Given the description of an element on the screen output the (x, y) to click on. 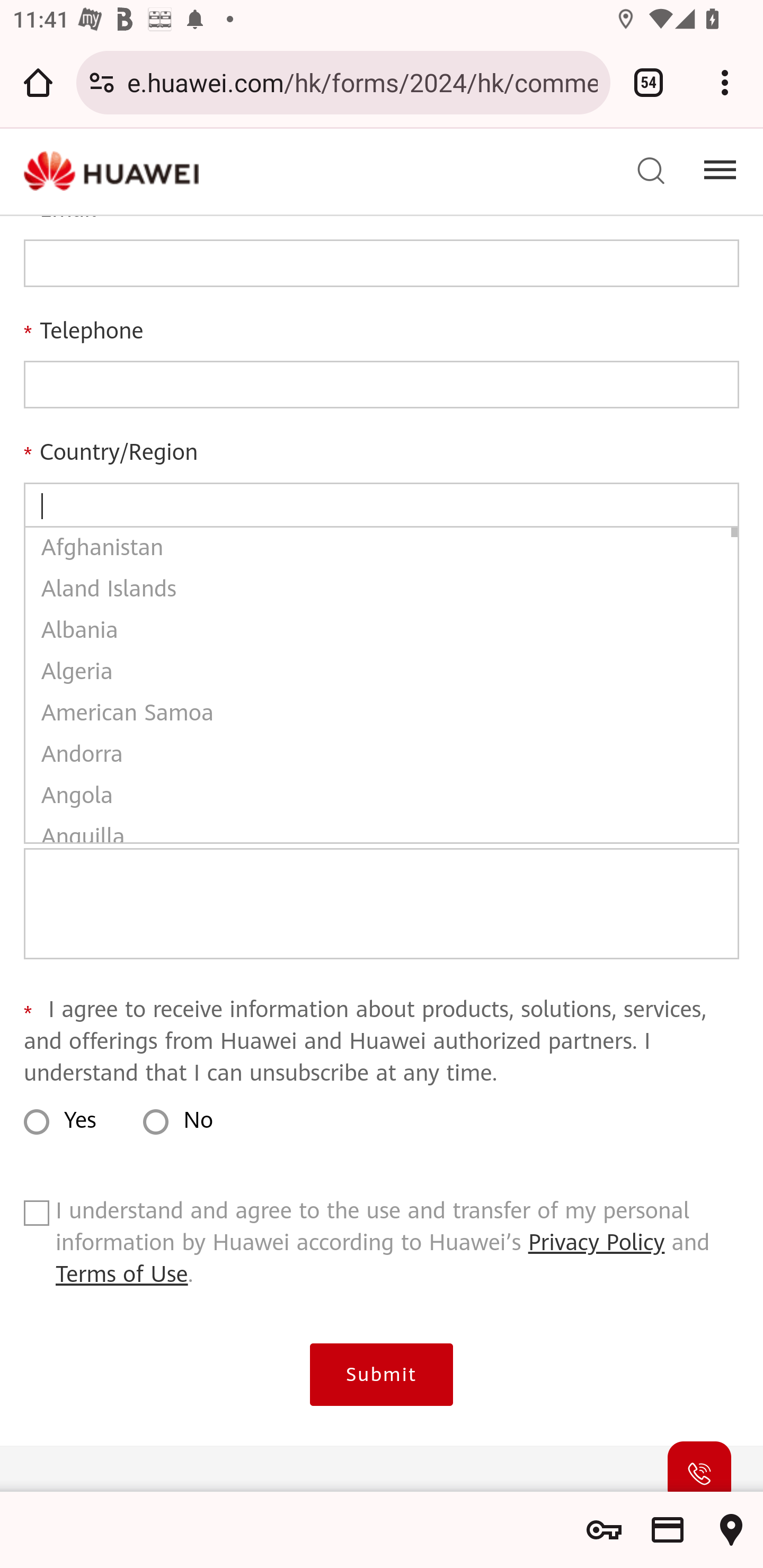
Open the home page (38, 82)
Connection is secure (101, 82)
Switch or close tabs (648, 82)
Customize and control Google Chrome (724, 82)
✓ (36, 1217)
Privacy Policy (596, 1244)
Terms of Use (122, 1276)
Show saved passwords and password options (603, 1530)
Show saved payment methods (667, 1530)
Show saved addresses (731, 1530)
